Given the description of an element on the screen output the (x, y) to click on. 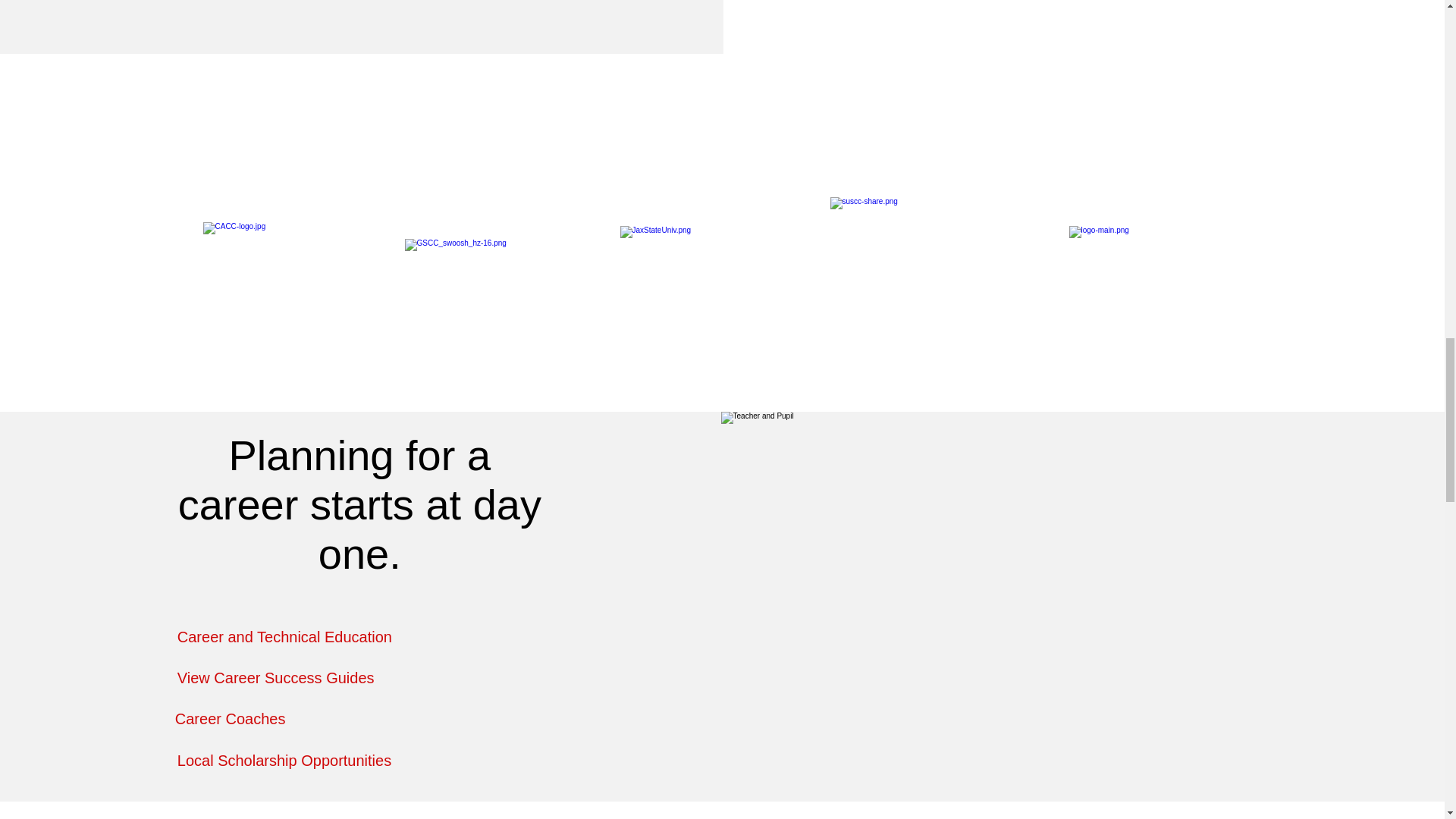
Local Scholarship Opportunities (284, 760)
Career and Technical Education (284, 636)
Career Coaches (229, 718)
View Career Success Guides (275, 677)
